Given the description of an element on the screen output the (x, y) to click on. 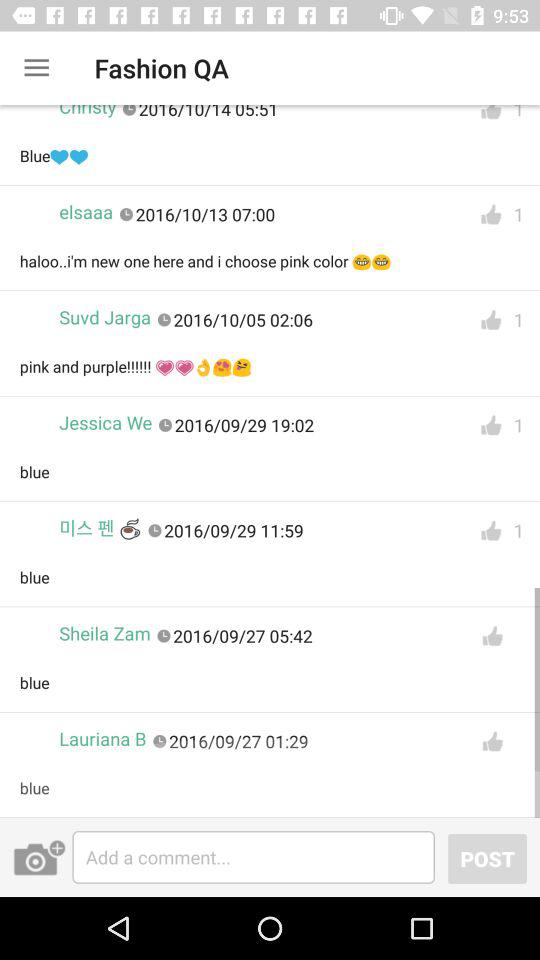
like (492, 636)
